Given the description of an element on the screen output the (x, y) to click on. 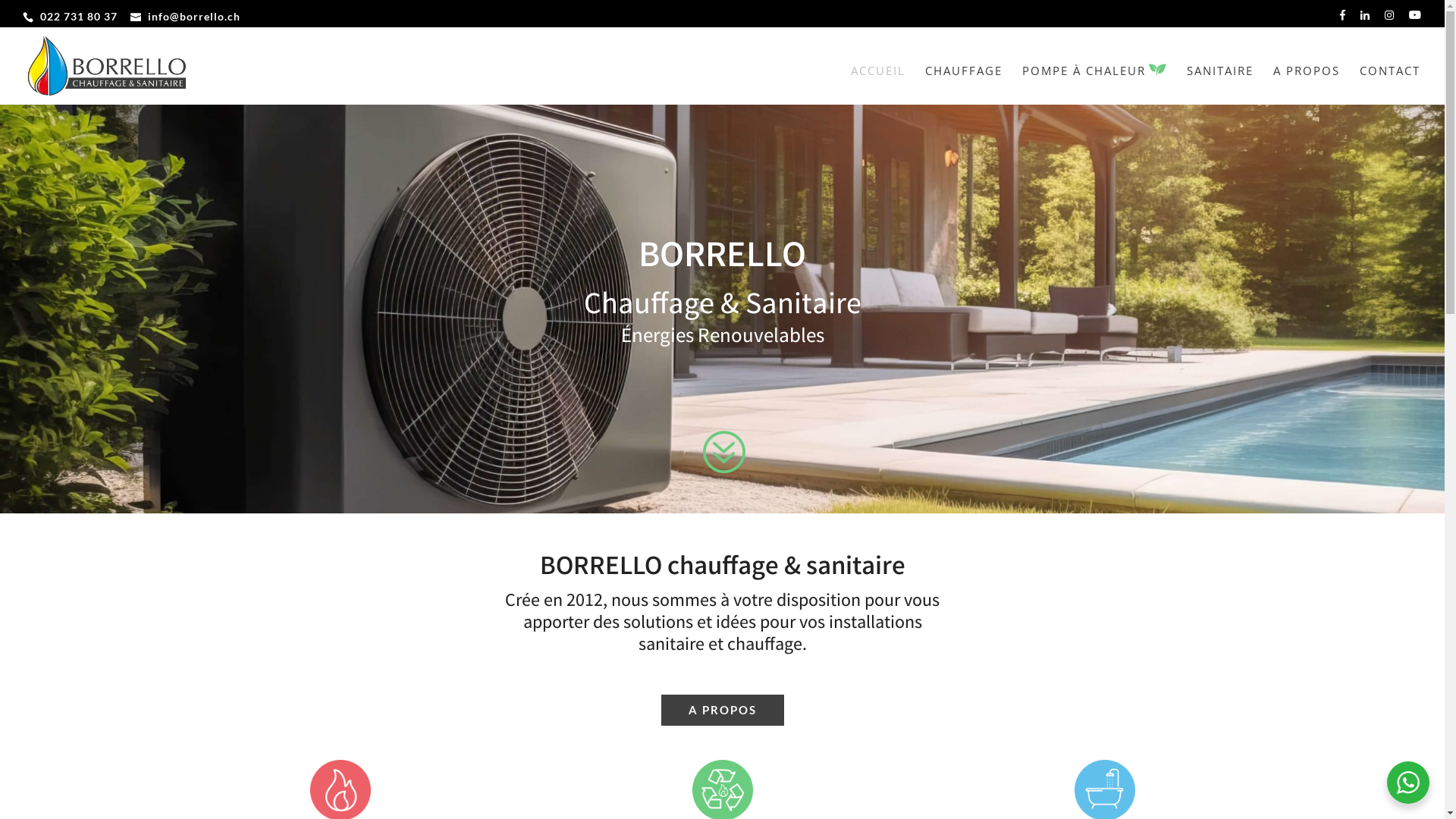
? Element type: text (721, 465)
A PROPOS Element type: text (722, 710)
A PROPOS Element type: text (1306, 84)
CHAUFFAGE Element type: text (963, 84)
ACCUEIL Element type: text (877, 84)
CONTACT Element type: text (1389, 84)
022 731 80 37 Element type: text (78, 15)
info@borrello.ch Element type: text (185, 15)
SANITAIRE Element type: text (1219, 84)
